Given the description of an element on the screen output the (x, y) to click on. 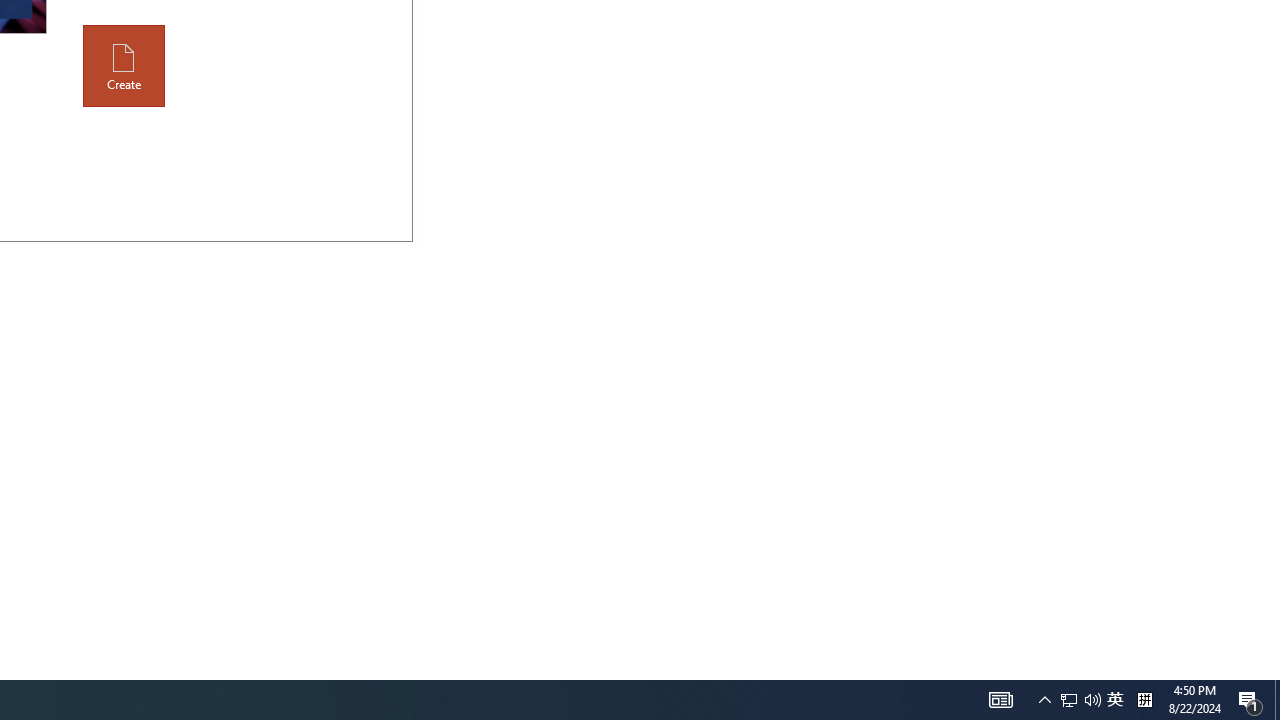
Create (124, 66)
